Given the description of an element on the screen output the (x, y) to click on. 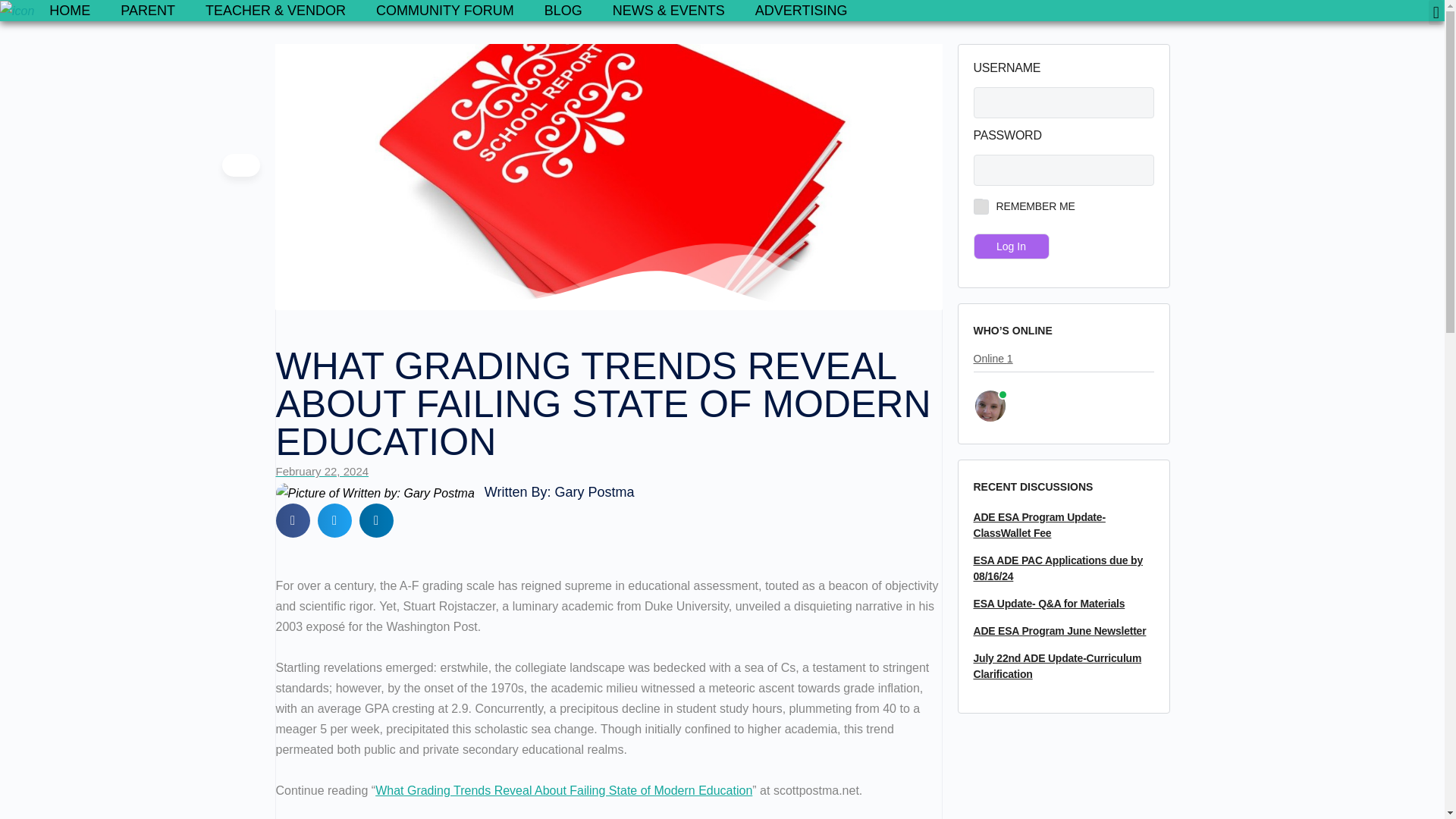
Log In (1011, 246)
forever (979, 203)
February 22, 2024 (322, 471)
English (1324, 11)
PARENT (147, 10)
HOME (68, 10)
COMMUNITY FORUM (445, 10)
Log In (1011, 246)
ADVERTISING (801, 10)
